Given the description of an element on the screen output the (x, y) to click on. 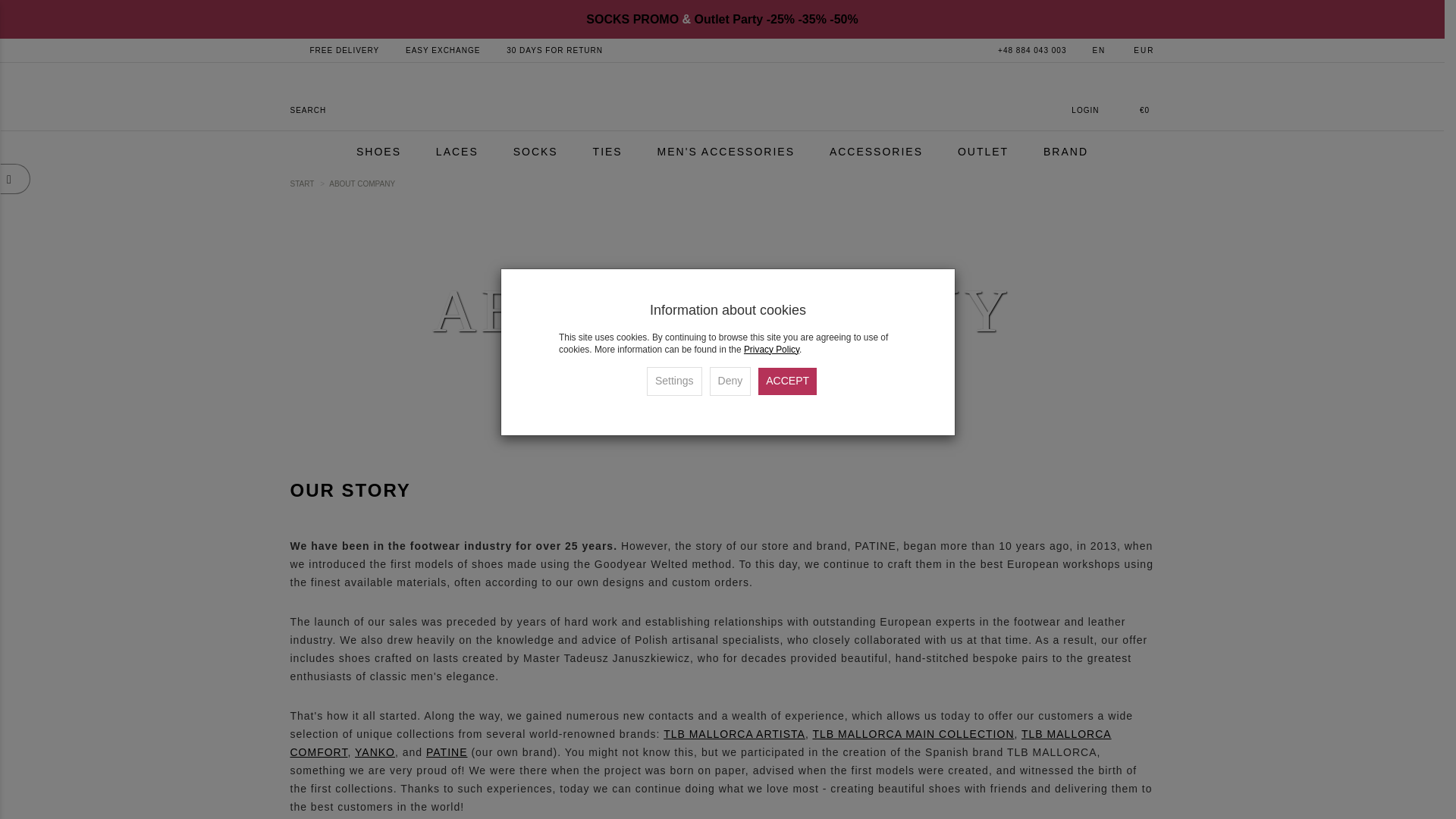
FREE DELIVERY (343, 49)
SHOES (378, 151)
SOCKS PROMO (632, 19)
30 DAYS FOR RETURN (554, 49)
EUR (1136, 50)
EASY EXCHANGE (443, 49)
EN (1091, 50)
LOGIN (1102, 96)
